Given the description of an element on the screen output the (x, y) to click on. 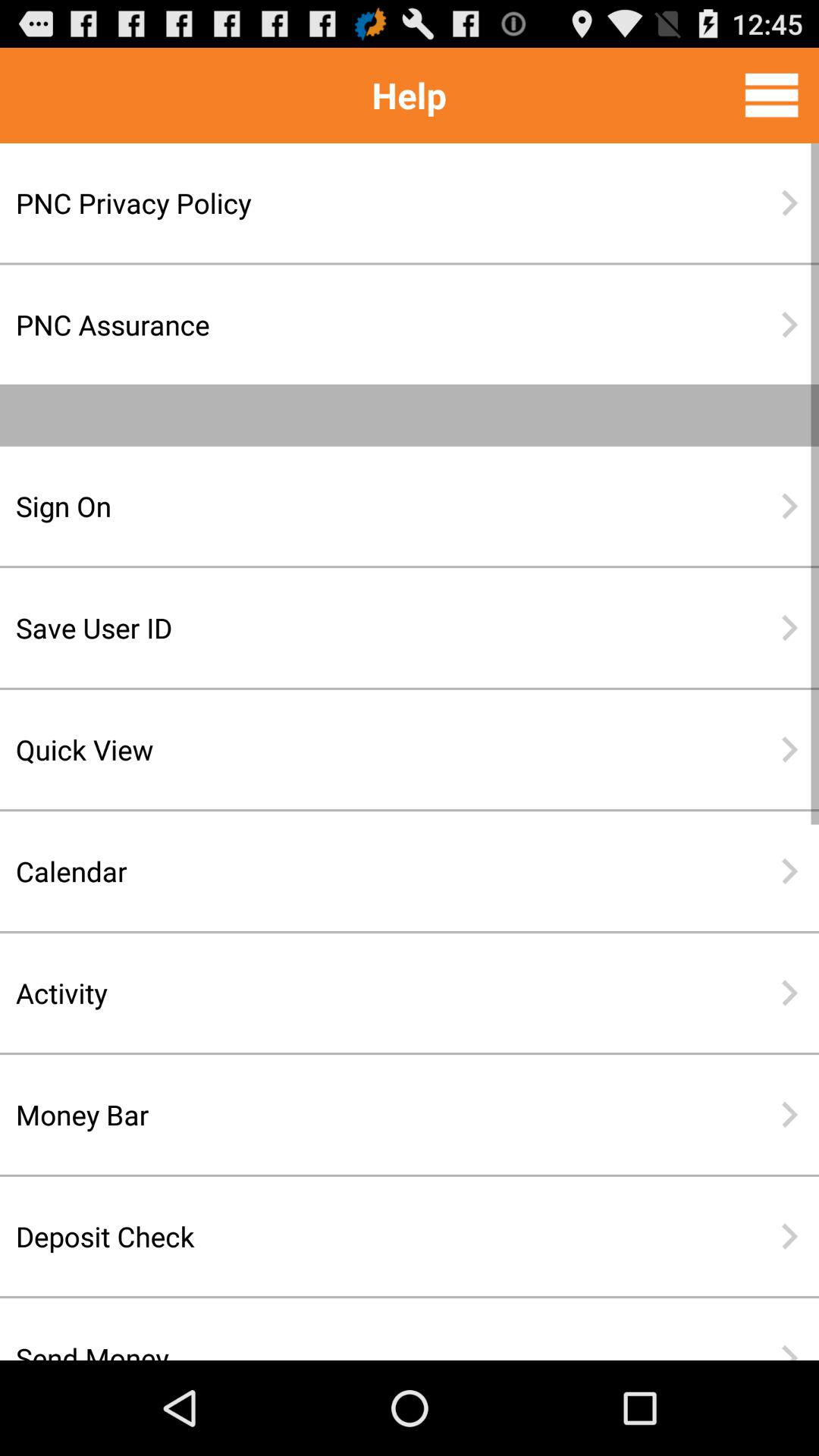
turn off item below help item (359, 202)
